Given the description of an element on the screen output the (x, y) to click on. 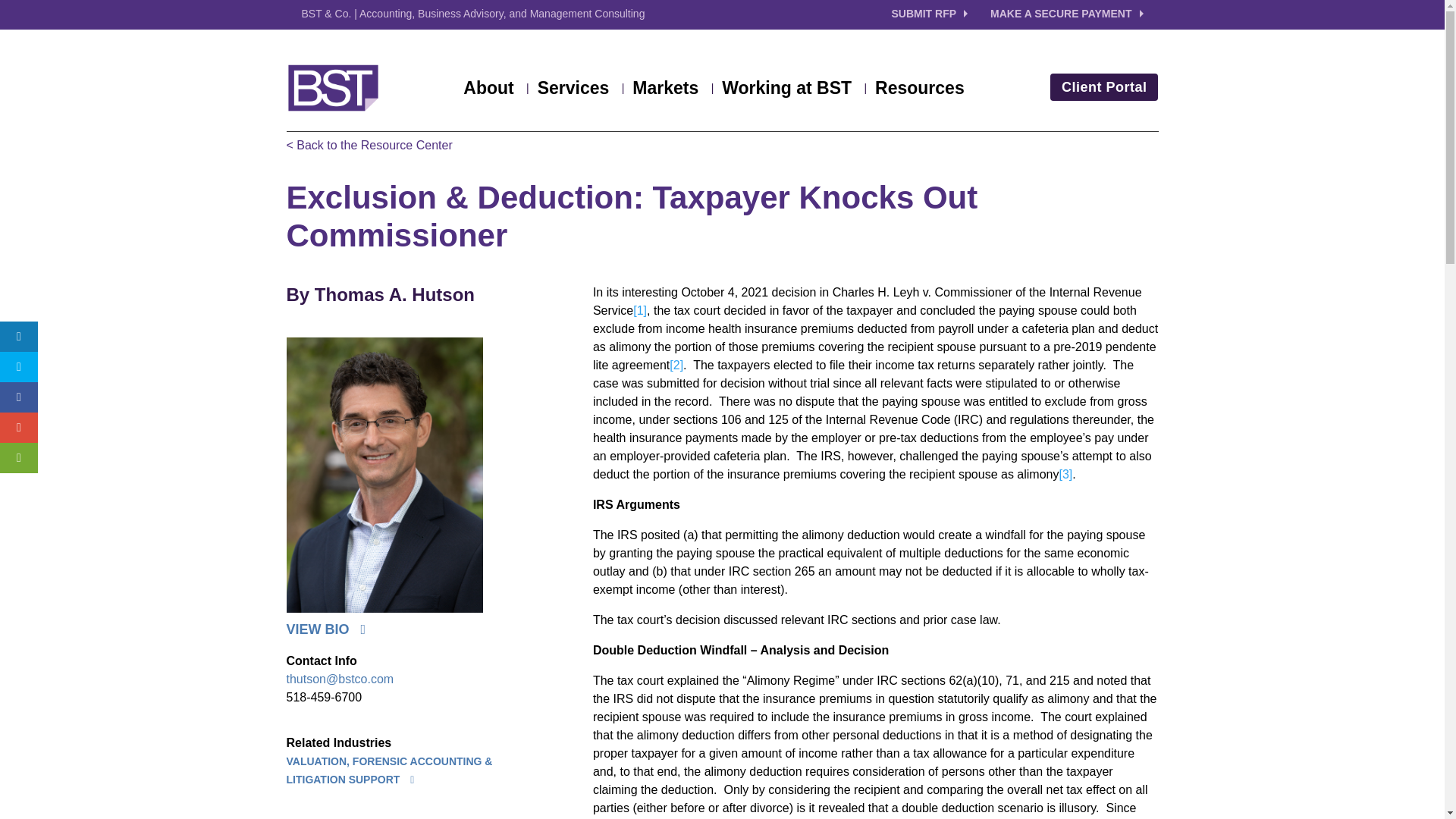
About (495, 90)
Markets (672, 90)
BST Logo (333, 88)
Services (580, 90)
Resources (919, 90)
SUBMIT RFP (941, 13)
Working at BST (794, 90)
MAKE A SECURE PAYMENT (1066, 13)
